Given the description of an element on the screen output the (x, y) to click on. 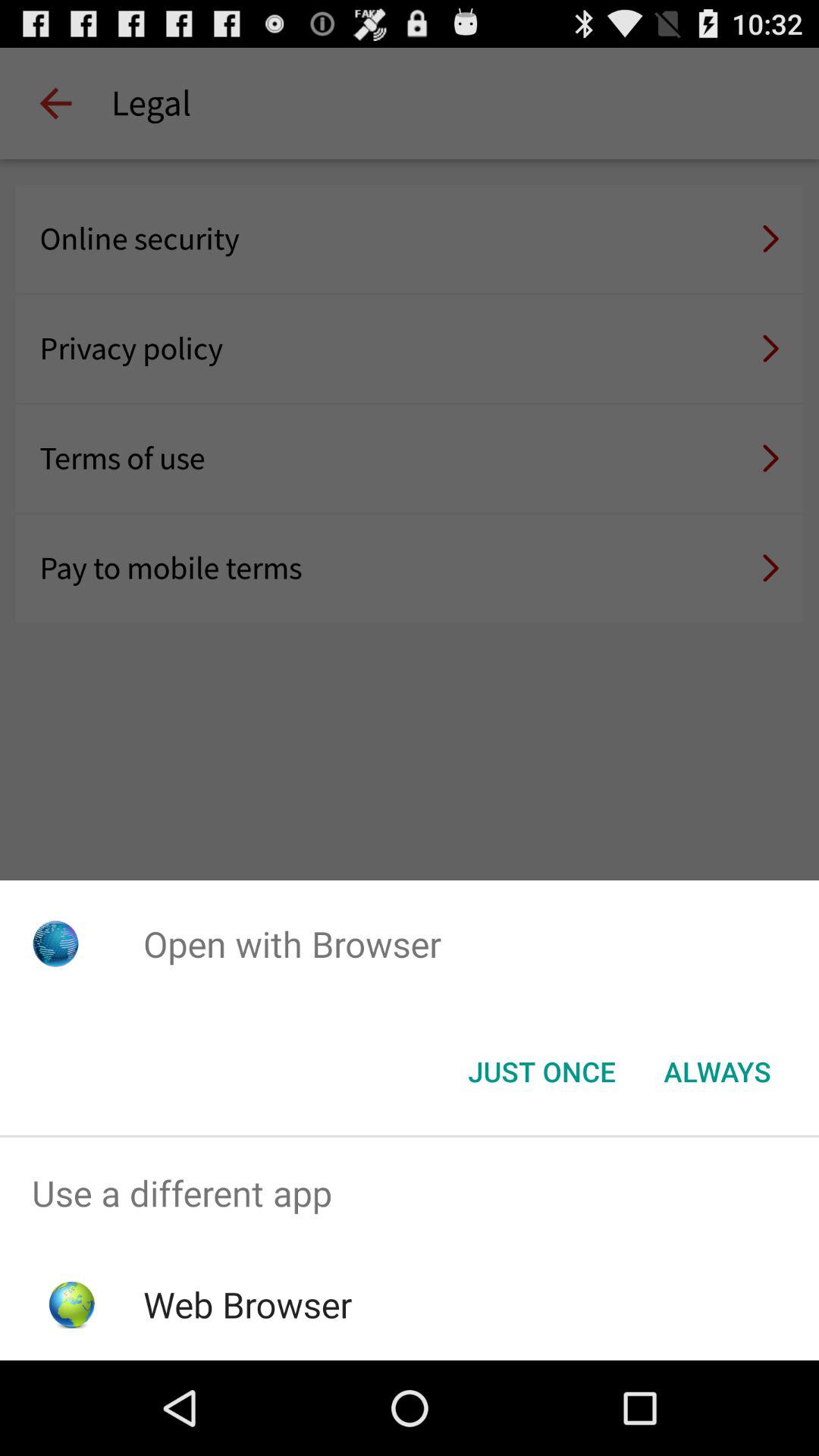
swipe until the just once (541, 1071)
